Given the description of an element on the screen output the (x, y) to click on. 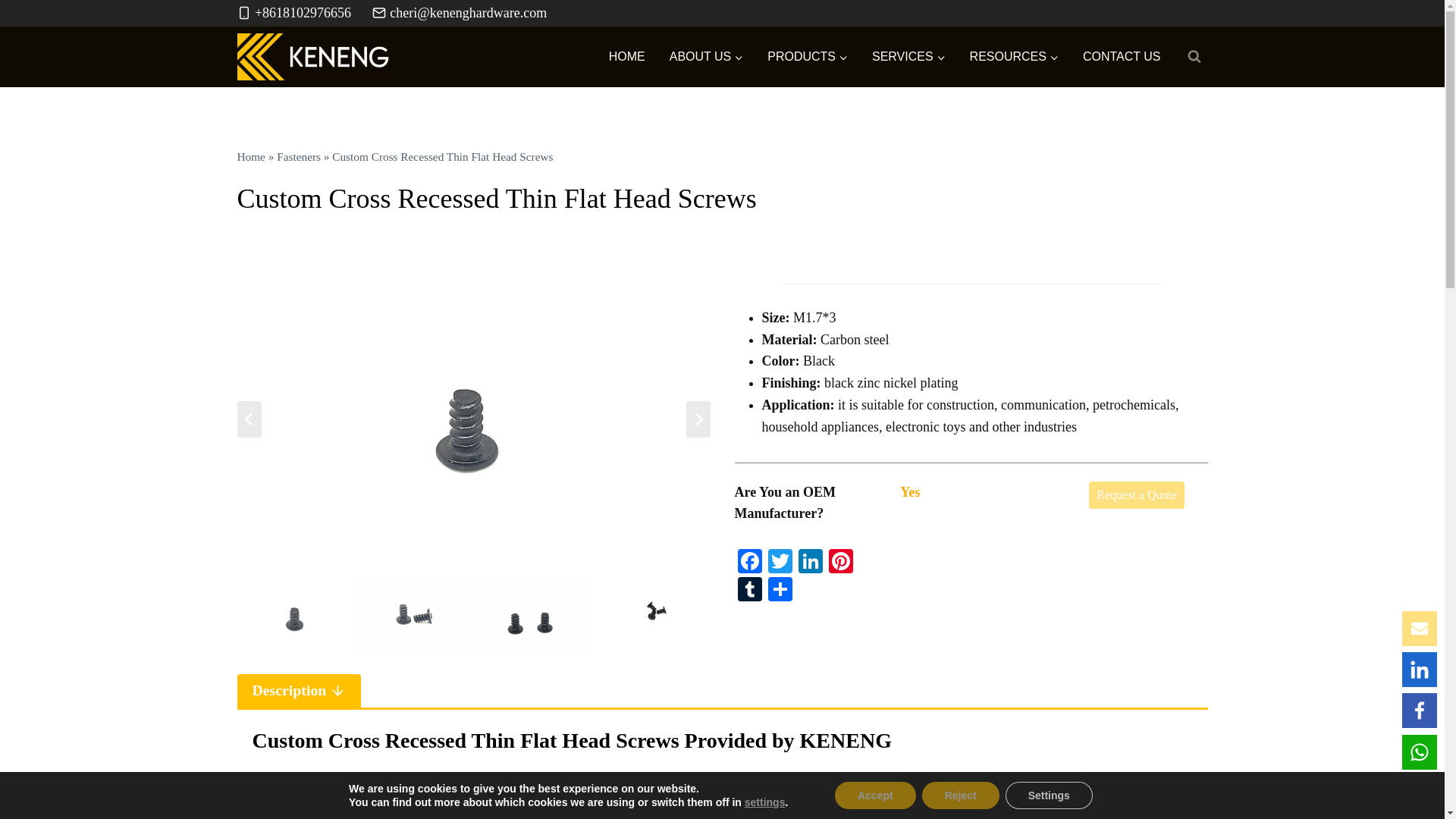
Pinterest (840, 562)
HOME (627, 56)
PRODUCTS (807, 56)
Twitter (779, 562)
LinkedIn (809, 562)
ABOUT US (706, 56)
Facebook (748, 562)
Tumblr (748, 591)
